Given the description of an element on the screen output the (x, y) to click on. 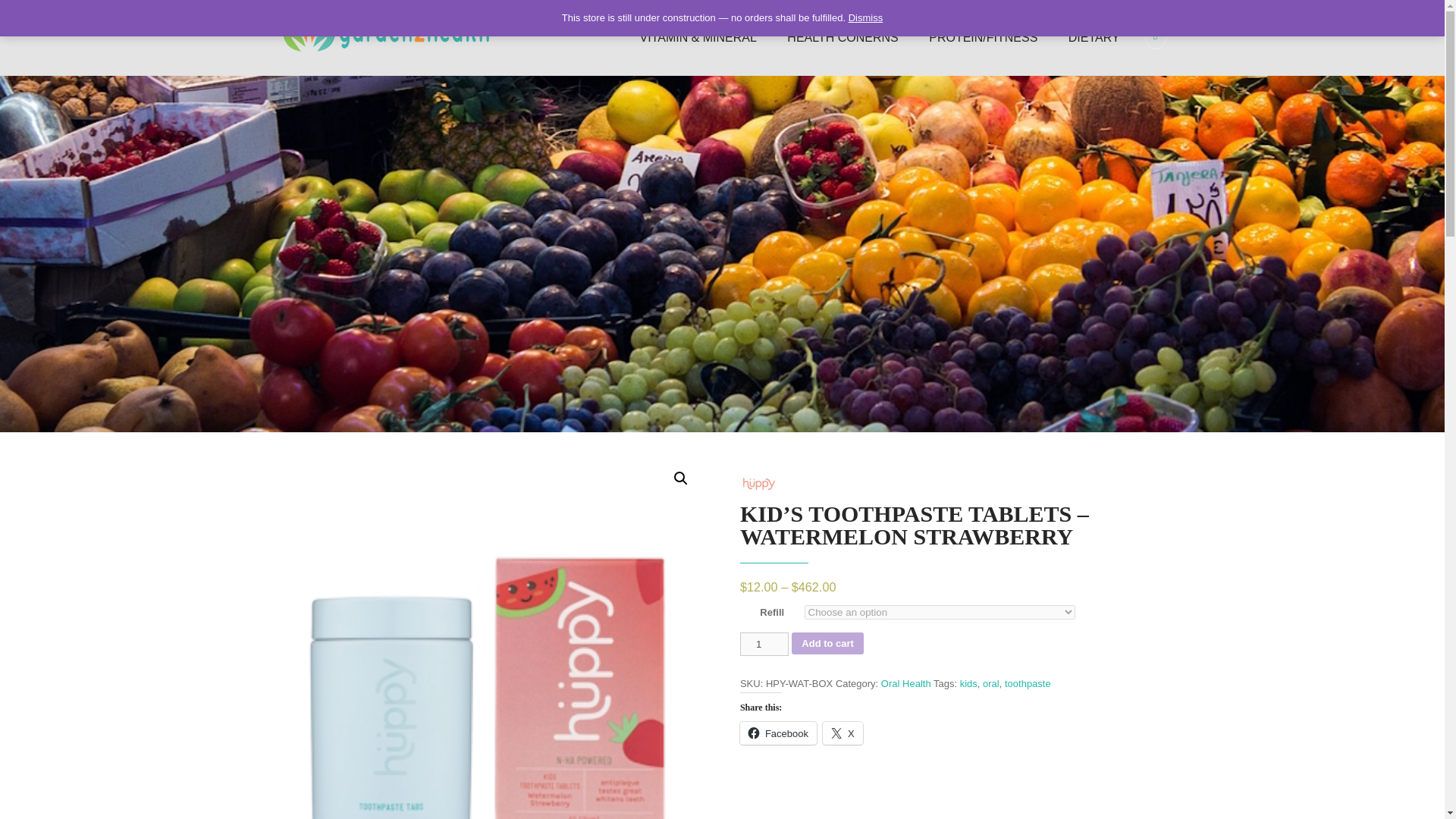
Click to share on X (842, 732)
HEALTH CONERNS (842, 38)
1 (764, 644)
Huppy (758, 483)
Click to share on Facebook (777, 732)
DIETARY (1094, 38)
